Given the description of an element on the screen output the (x, y) to click on. 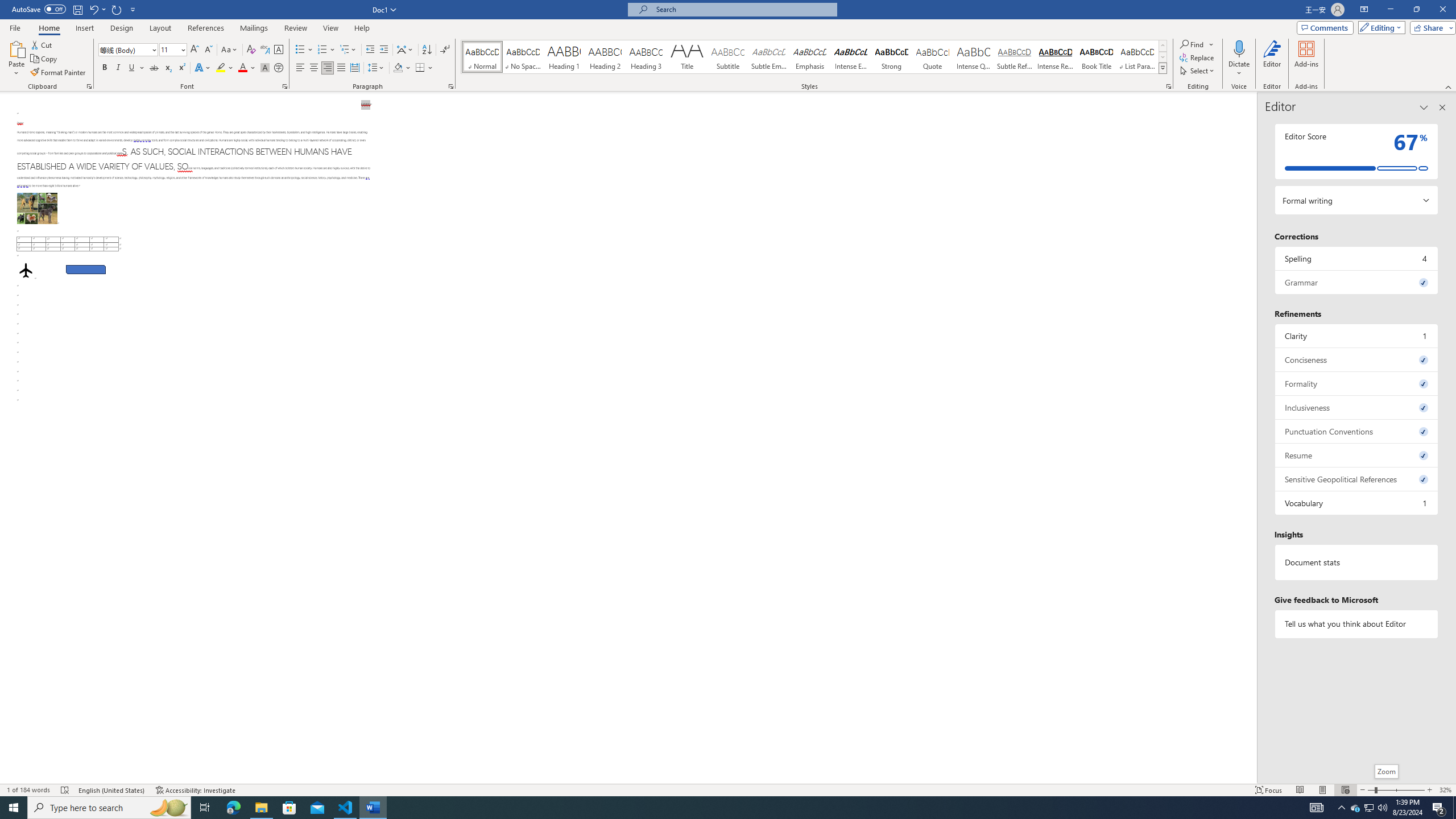
Undo Paragraph Alignment (96, 9)
